Given the description of an element on the screen output the (x, y) to click on. 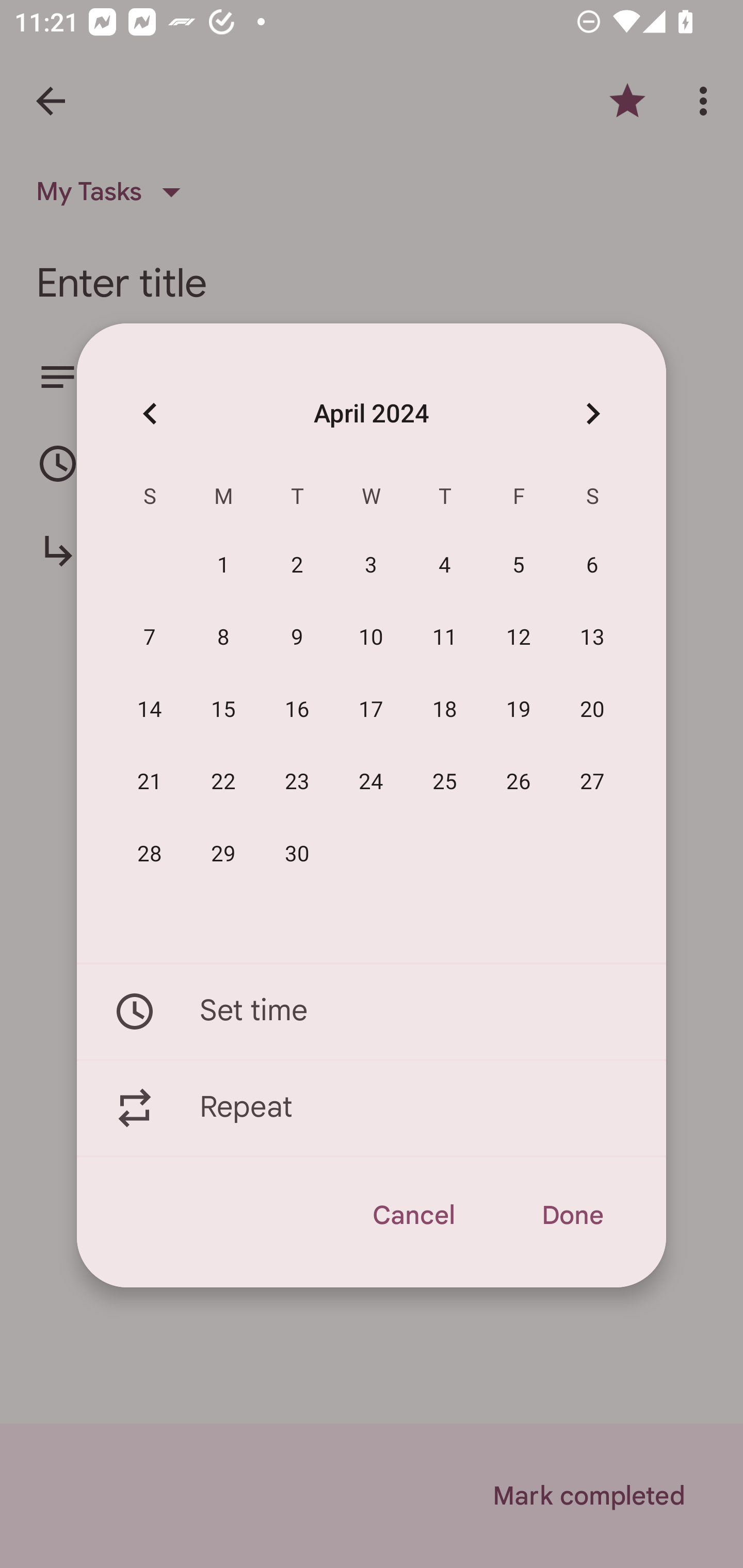
Previous month (149, 413)
Next month (592, 413)
1 01 April 2024 (223, 565)
2 02 April 2024 (297, 565)
3 03 April 2024 (370, 565)
4 04 April 2024 (444, 565)
5 05 April 2024 (518, 565)
6 06 April 2024 (592, 565)
7 07 April 2024 (149, 638)
8 08 April 2024 (223, 638)
9 09 April 2024 (297, 638)
10 10 April 2024 (370, 638)
11 11 April 2024 (444, 638)
12 12 April 2024 (518, 638)
13 13 April 2024 (592, 638)
14 14 April 2024 (149, 710)
15 15 April 2024 (223, 710)
16 16 April 2024 (297, 710)
17 17 April 2024 (370, 710)
18 18 April 2024 (444, 710)
19 19 April 2024 (518, 710)
20 20 April 2024 (592, 710)
21 21 April 2024 (149, 782)
22 22 April 2024 (223, 782)
23 23 April 2024 (297, 782)
24 24 April 2024 (370, 782)
25 25 April 2024 (444, 782)
26 26 April 2024 (518, 782)
27 27 April 2024 (592, 782)
28 28 April 2024 (149, 854)
29 29 April 2024 (223, 854)
30 30 April 2024 (297, 854)
Set time (371, 1011)
Repeat (371, 1108)
Cancel (412, 1215)
Done (571, 1215)
